Given the description of an element on the screen output the (x, y) to click on. 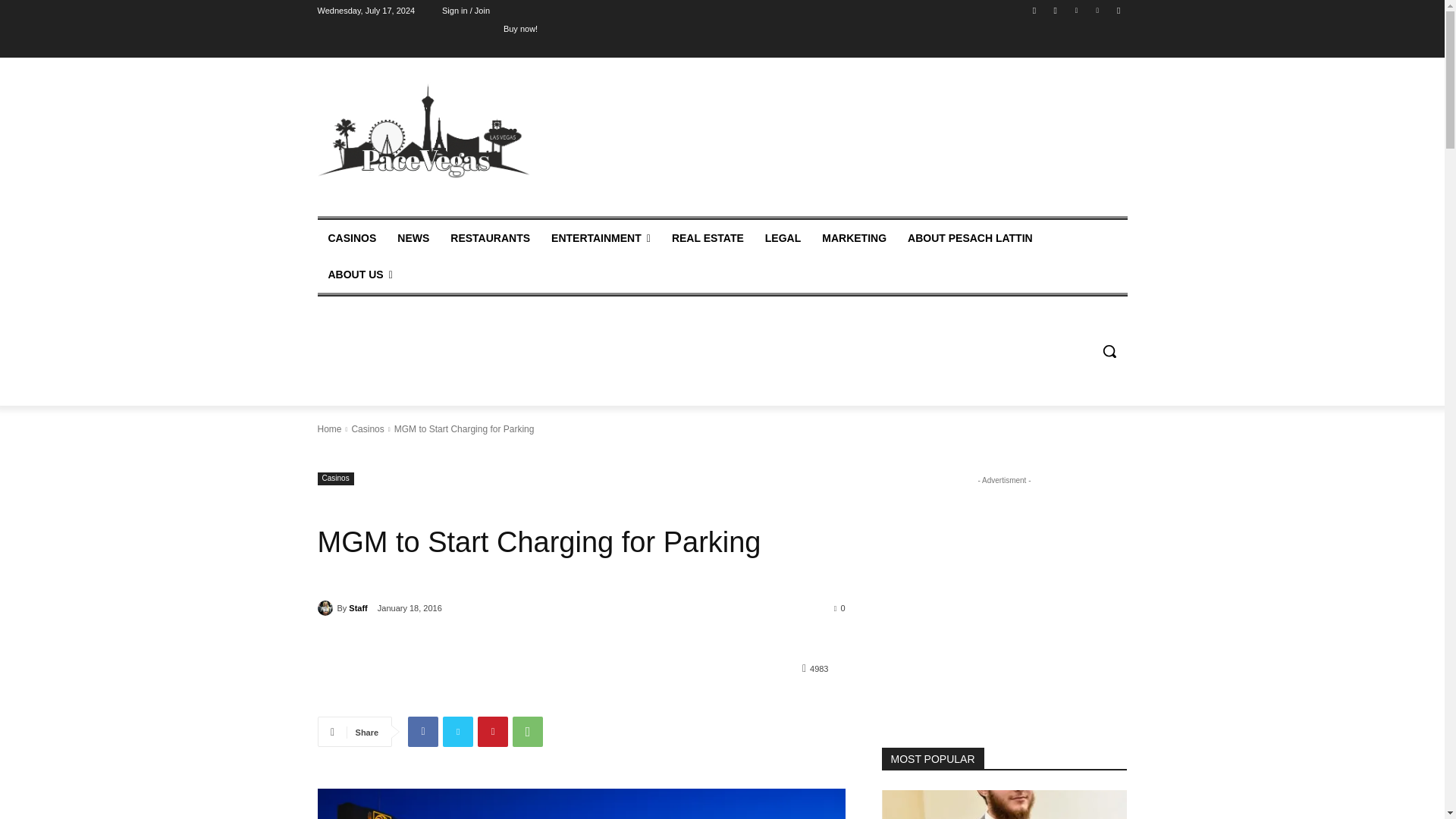
Instagram (1055, 9)
Twitter (1075, 9)
View all posts in Casinos (367, 429)
Staff (326, 607)
Facebook (1034, 9)
Buy now! (520, 28)
Vimeo (1097, 9)
Youtube (1117, 9)
Advertisement (846, 144)
